Given the description of an element on the screen output the (x, y) to click on. 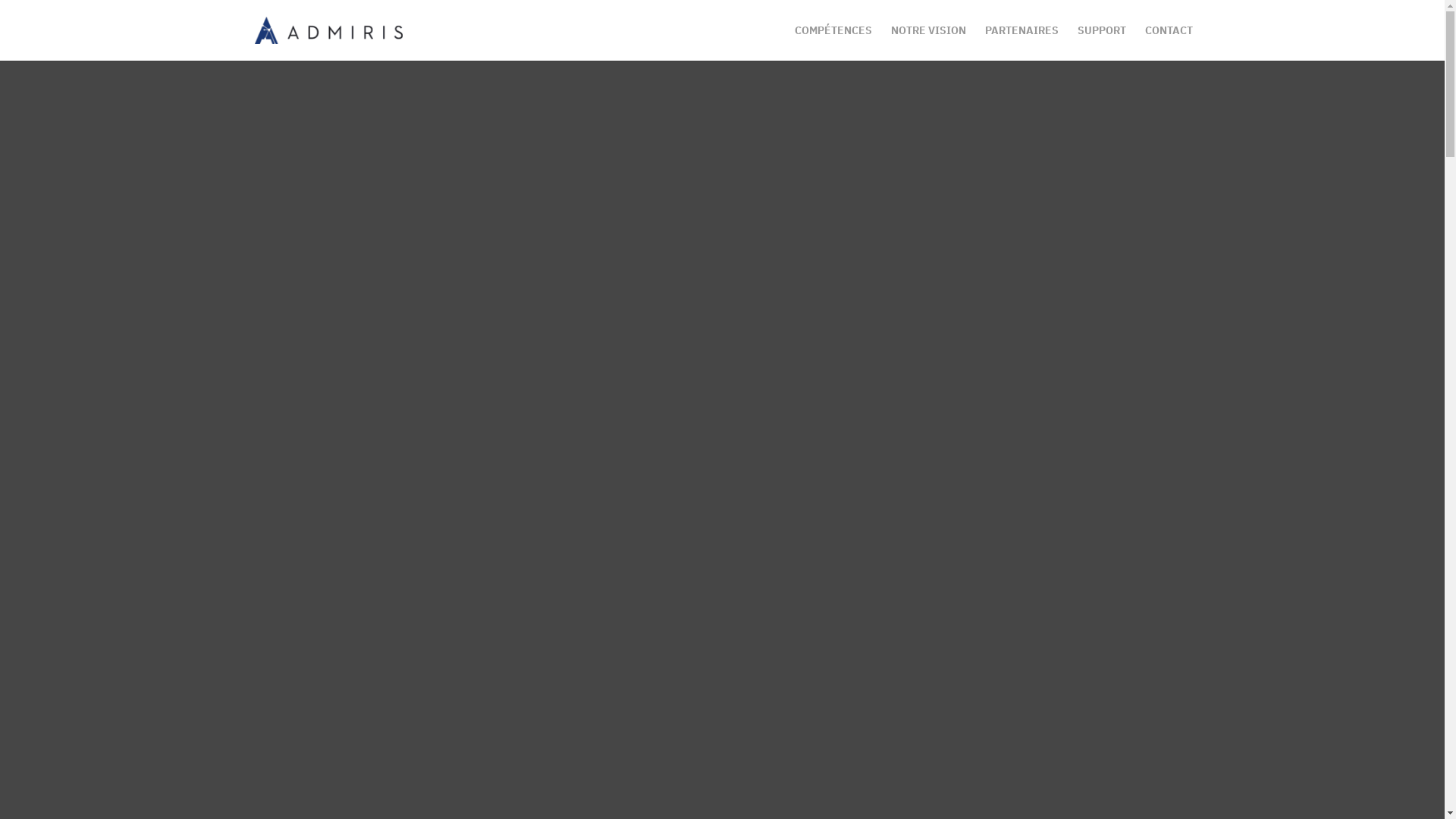
CONTACT Element type: text (1168, 42)
SUPPORT Element type: text (1100, 42)
PARTENAIRES Element type: text (1020, 42)
NOTRE VISION Element type: text (927, 42)
